Given the description of an element on the screen output the (x, y) to click on. 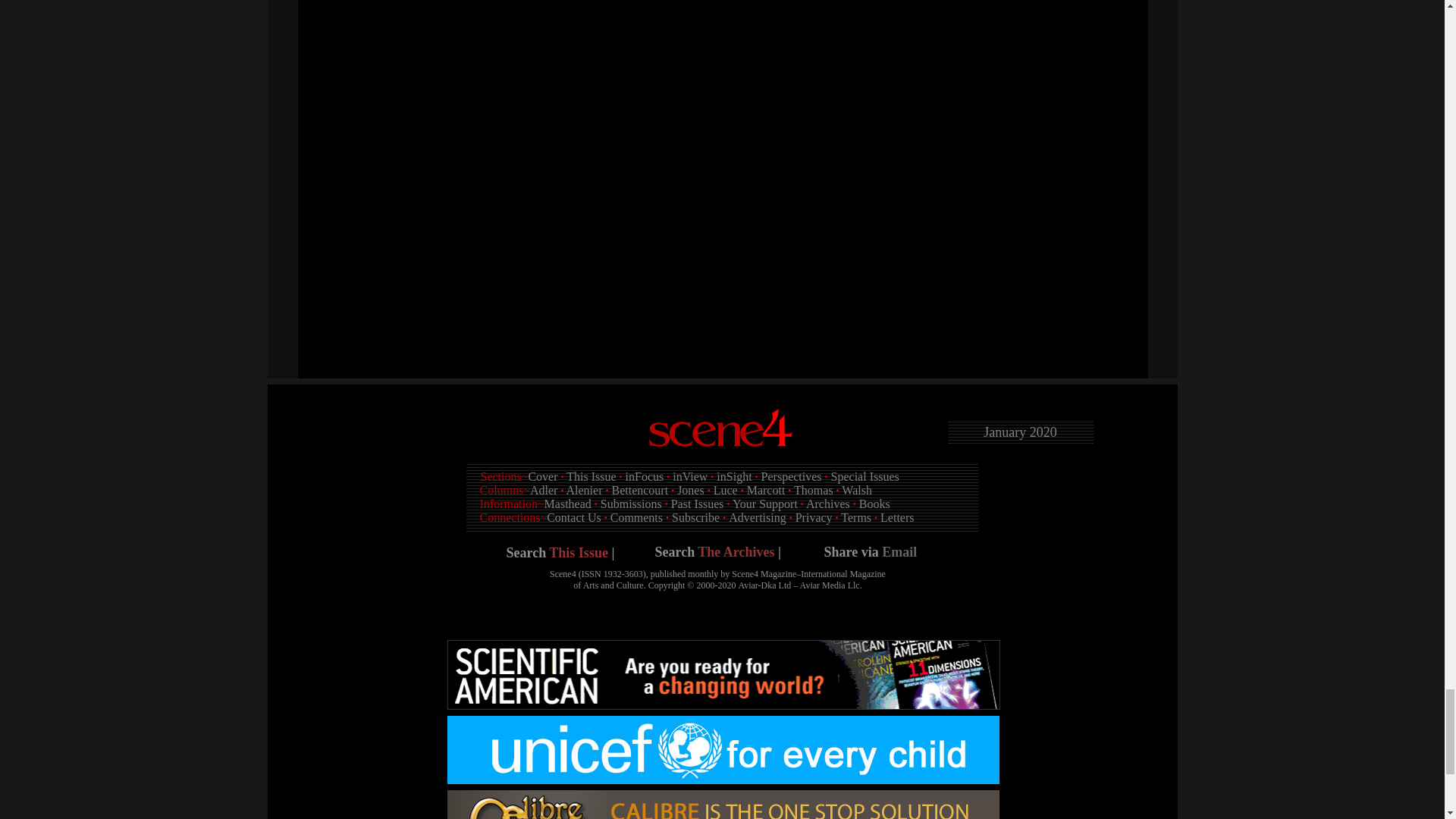
www.scene4.com (721, 431)
inFocus (644, 476)
Jones (690, 490)
inSight (733, 476)
Contact Us (574, 517)
The Archives (735, 551)
Advertising (757, 517)
Privacy (813, 517)
Masthead (567, 503)
Comments (636, 517)
This Issue (578, 552)
Thomas (812, 490)
Perspectives (791, 476)
Calibre Ebook Management - www.scene4.com (722, 804)
Alenier (584, 490)
